Given the description of an element on the screen output the (x, y) to click on. 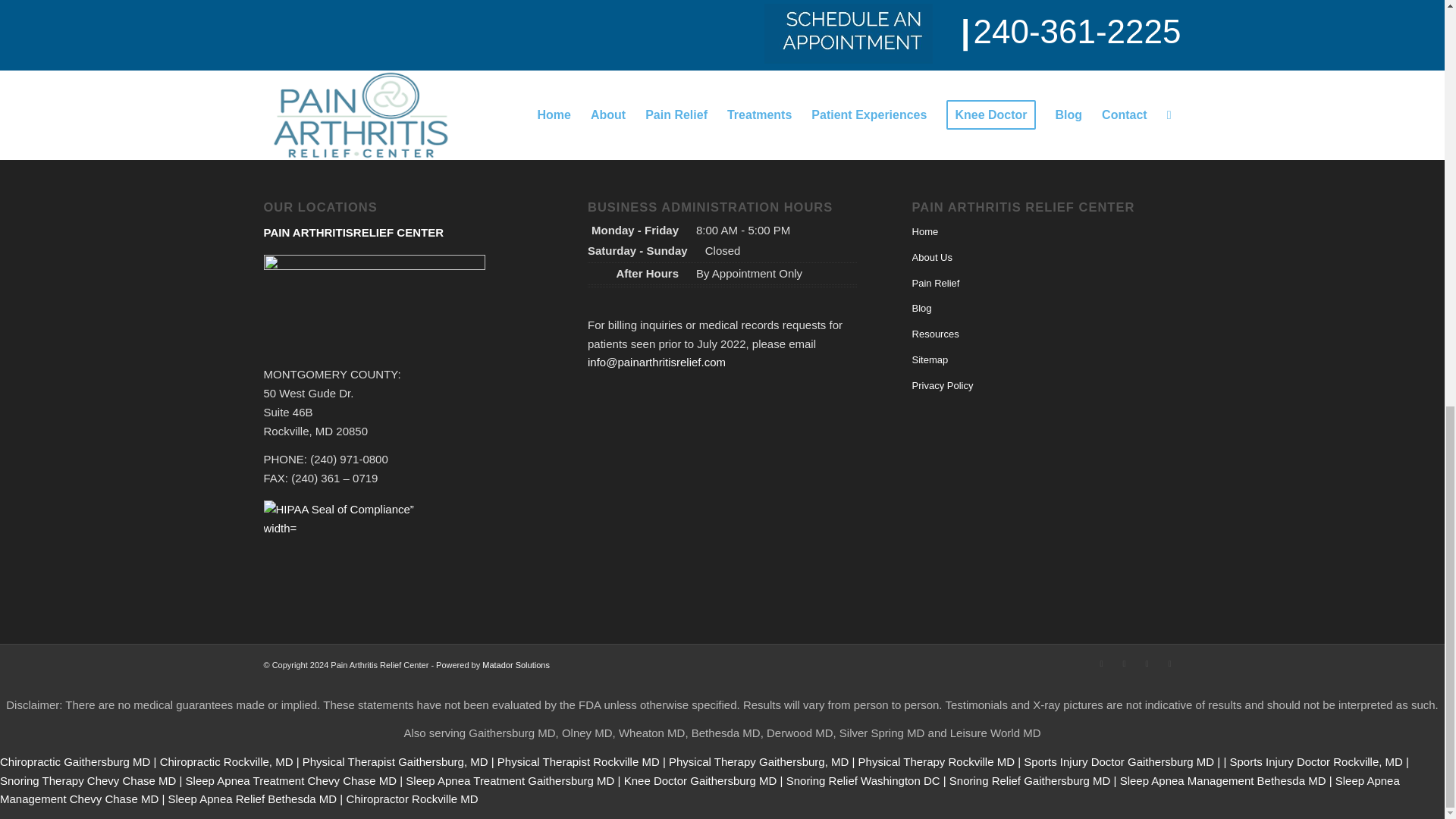
Facebook (1124, 662)
Youtube (1146, 662)
Twitter (1101, 662)
Instagram (1169, 662)
